Given the description of an element on the screen output the (x, y) to click on. 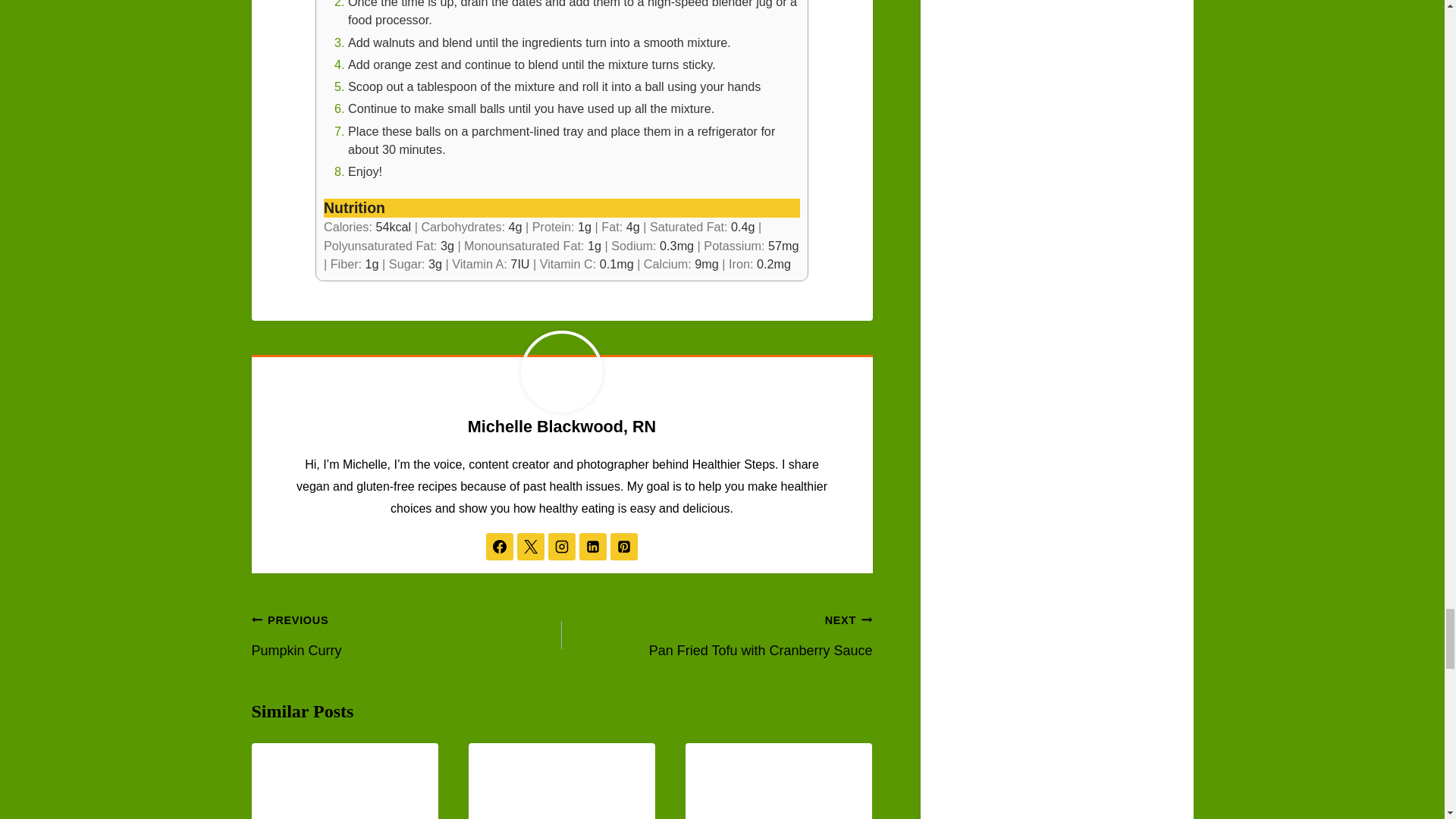
Follow Michelle Blackwood, RN on Facebook (499, 546)
Posts by Michelle Blackwood, RN (561, 425)
Follow Michelle Blackwood, RN on Instagram (561, 546)
Follow Michelle Blackwood, RN on Pinterest (623, 546)
Follow Michelle Blackwood, RN on Linkedin (593, 546)
Follow Michelle Blackwood, RN on X formerly Twitter (530, 546)
